Given the description of an element on the screen output the (x, y) to click on. 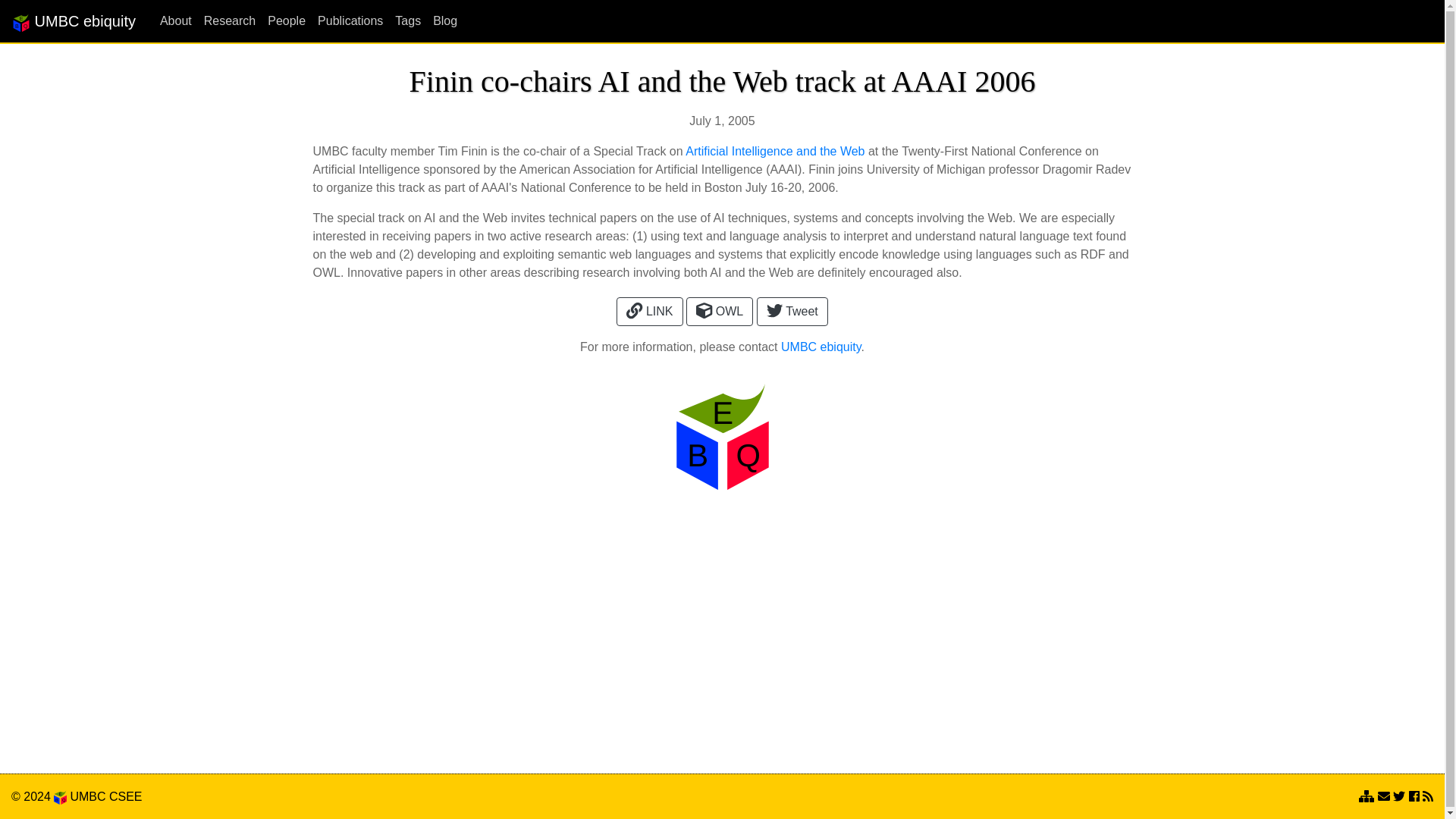
Blog (438, 20)
Tags (401, 20)
OWL (718, 311)
 UMBC ebiquity (73, 20)
UMBC ebiquity (73, 20)
Artificial Intelligence and the Web (774, 151)
People (280, 20)
Research (224, 20)
Publications (343, 20)
Tweet (792, 311)
